Given the description of an element on the screen output the (x, y) to click on. 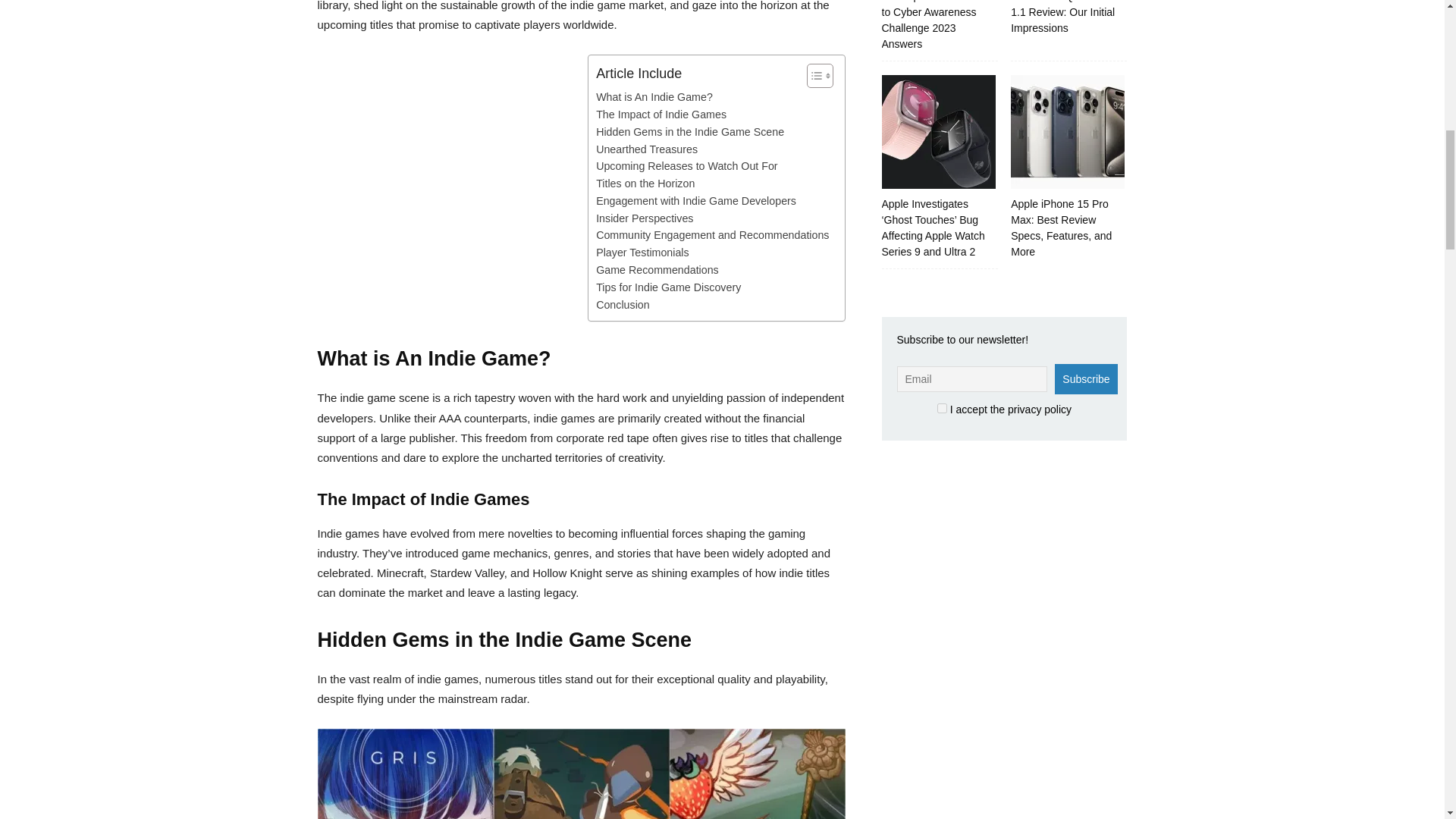
Unearthed Treasures (646, 149)
on (942, 408)
The Impact of Indie Games (660, 114)
Subscribe (1085, 378)
Hidden Gems in the Indie Game Scene (689, 131)
What is An Indie Game? (654, 97)
Upcoming Releases to Watch Out For (686, 166)
